Given the description of an element on the screen output the (x, y) to click on. 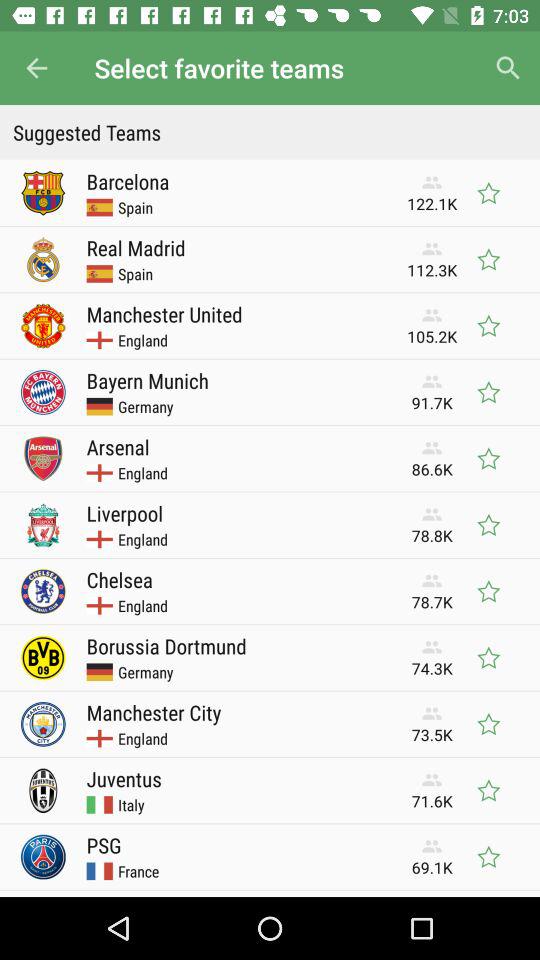
turn off manchester united item (164, 314)
